Given the description of an element on the screen output the (x, y) to click on. 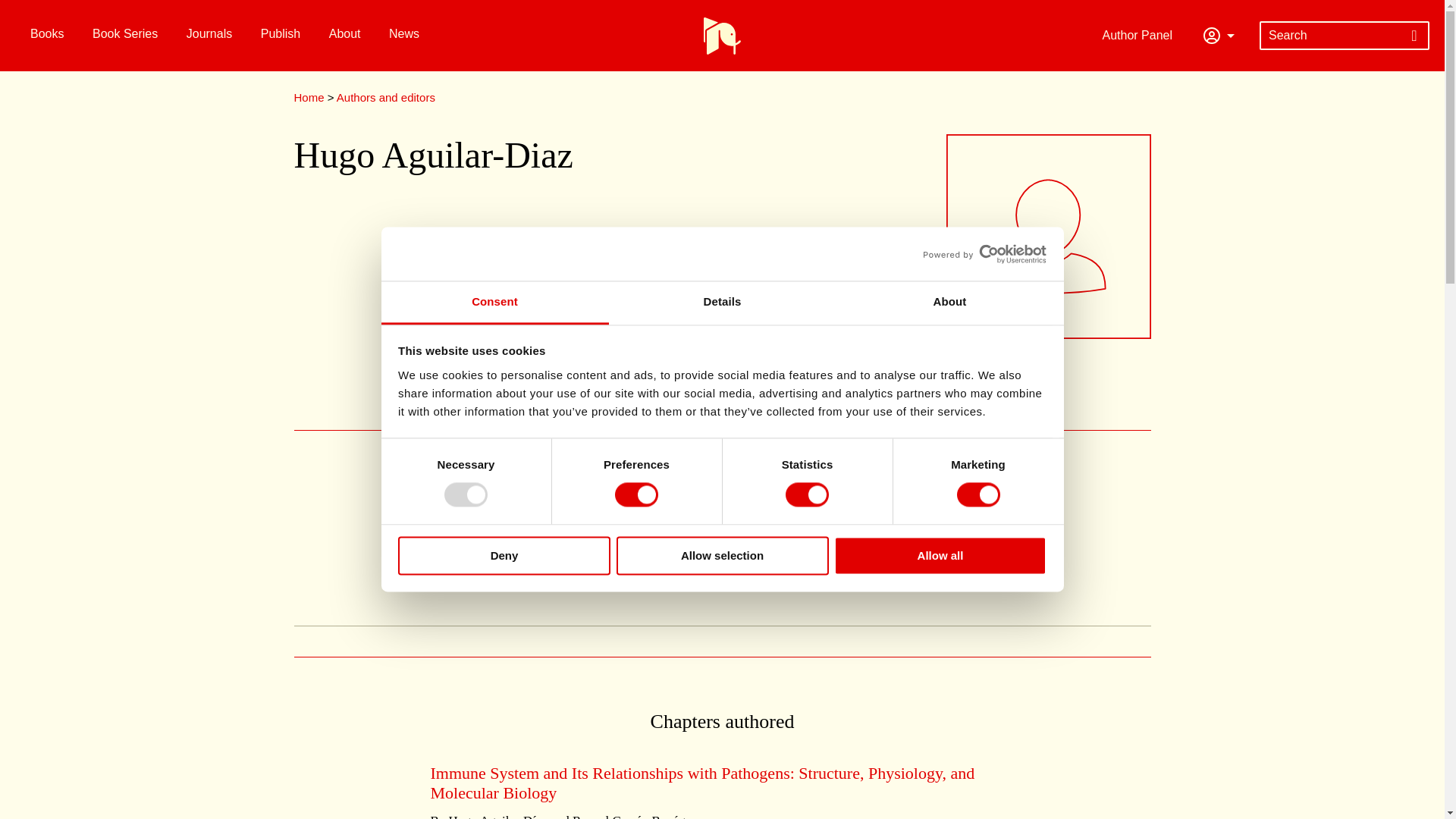
About (948, 302)
Details (721, 302)
Consent (494, 302)
